Given the description of an element on the screen output the (x, y) to click on. 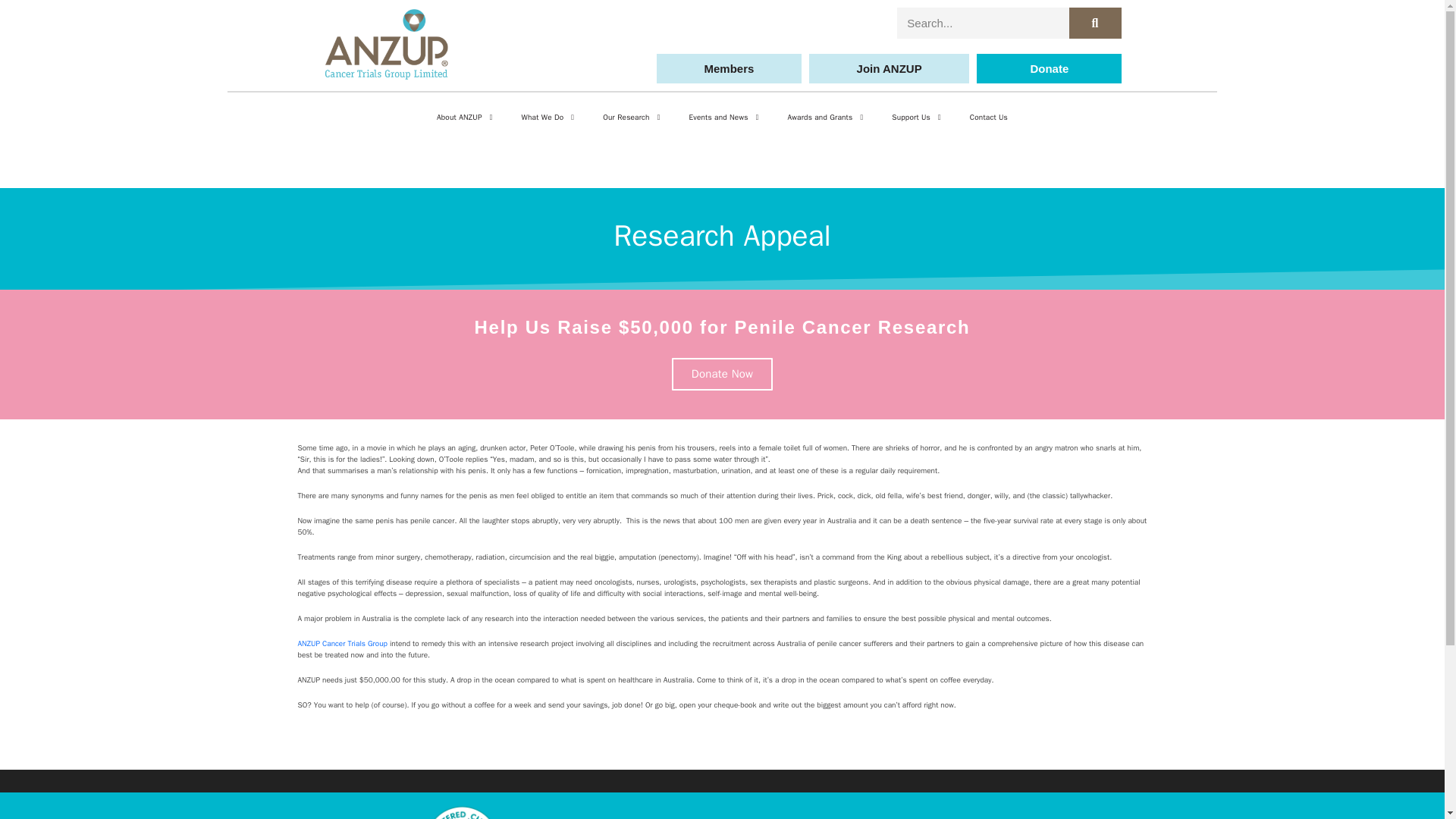
Members (729, 68)
Our Research (630, 117)
Donate (1048, 68)
About ANZUP (464, 117)
Join ANZUP (889, 68)
What We Do (547, 117)
